Given the description of an element on the screen output the (x, y) to click on. 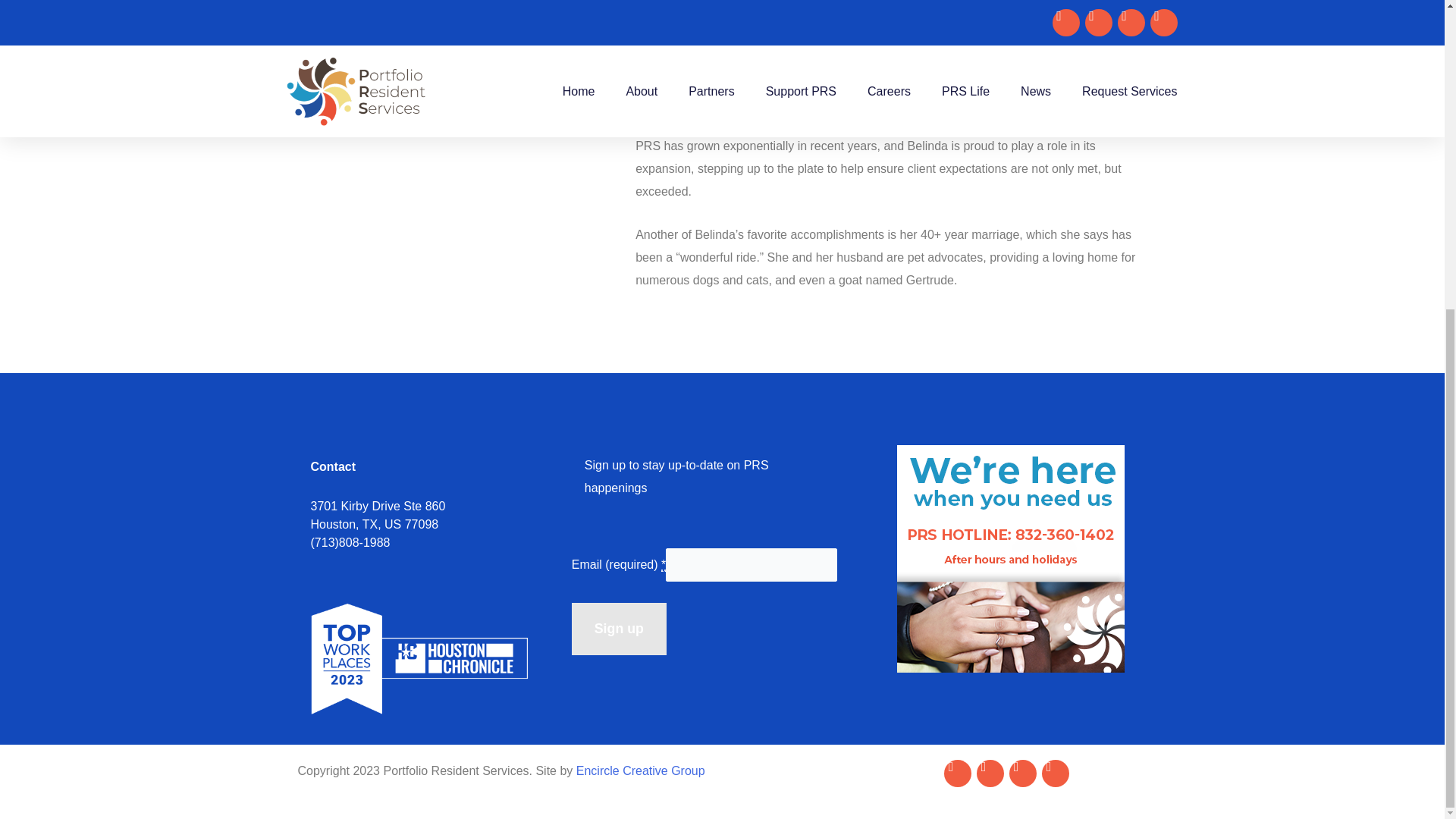
Sign up (619, 628)
